Given the description of an element on the screen output the (x, y) to click on. 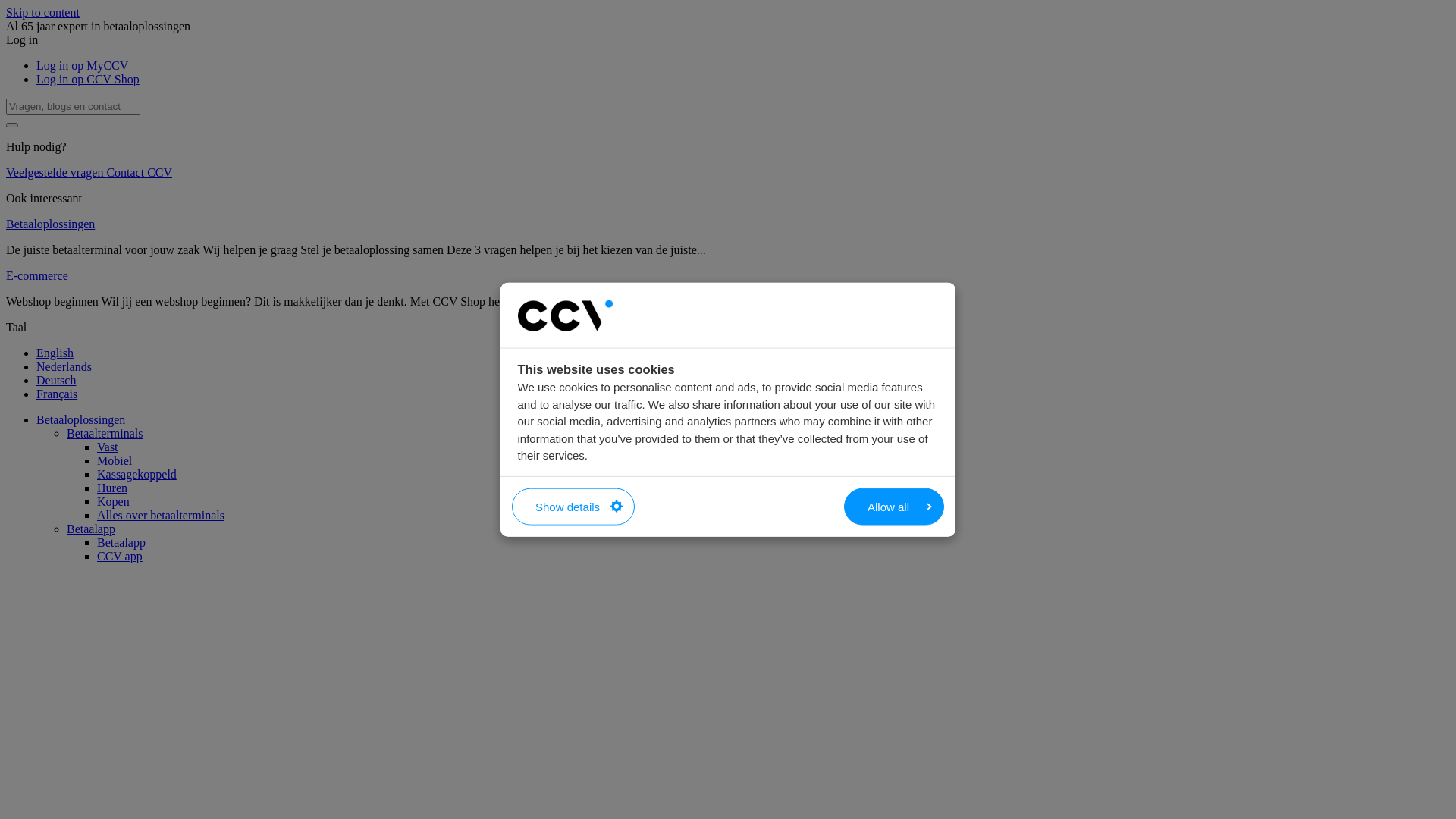
Nederlands Element type: text (63, 366)
CCV app Element type: text (119, 555)
Mobiel Element type: text (114, 460)
Allow all Element type: text (894, 505)
Show details Element type: text (572, 505)
Huren Element type: text (112, 487)
Betaalapp Element type: text (90, 528)
Vast Element type: text (107, 446)
English Element type: text (54, 352)
Betaaloplossingen Element type: text (80, 419)
Betaalterminals Element type: text (104, 432)
Log in op MyCCV Element type: text (82, 65)
Deutsch Element type: text (55, 379)
Log in op CCV Shop Element type: text (87, 78)
Betaaloplossingen Element type: text (50, 223)
Kassagekoppeld Element type: text (136, 473)
Contact CCV Element type: text (139, 172)
Skip to content Element type: text (42, 12)
Alles over betaalterminals Element type: text (160, 514)
Betaalapp Element type: text (121, 542)
E-commerce Element type: text (37, 275)
Veelgestelde vragen Element type: text (56, 172)
Kopen Element type: text (113, 501)
